Given the description of an element on the screen output the (x, y) to click on. 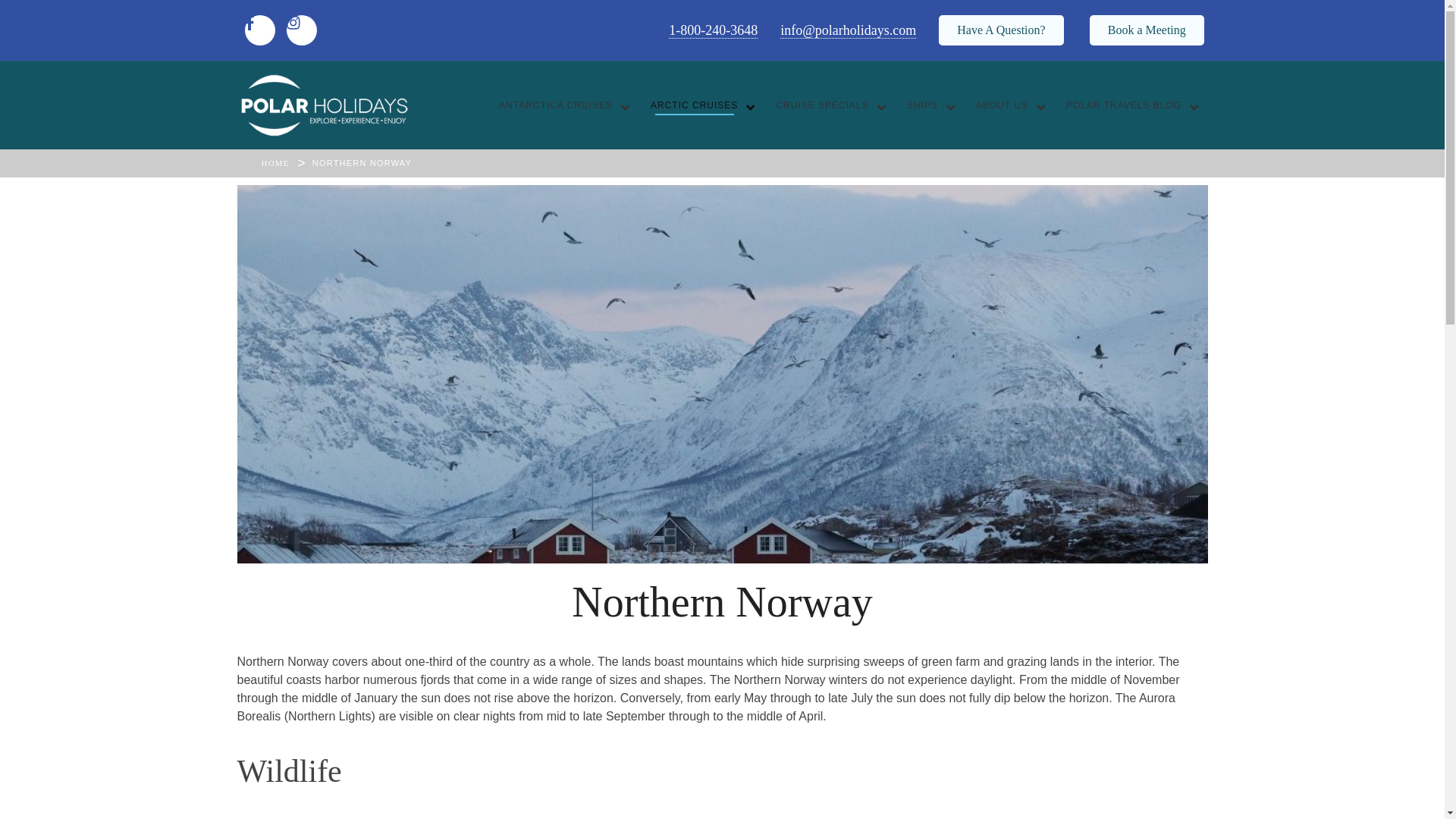
Have A Question? (1000, 30)
Book a Meeting (1146, 30)
ANTARCTICA CRUISES (559, 105)
Northern Norway (362, 162)
Home (274, 162)
1-800-240-3648 (712, 30)
